Given the description of an element on the screen output the (x, y) to click on. 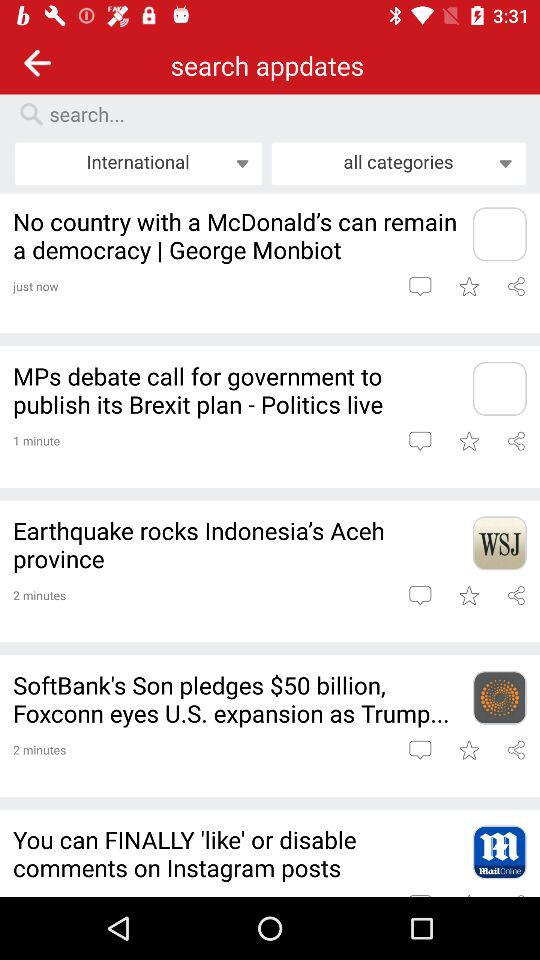
comment on post (419, 440)
